Given the description of an element on the screen output the (x, y) to click on. 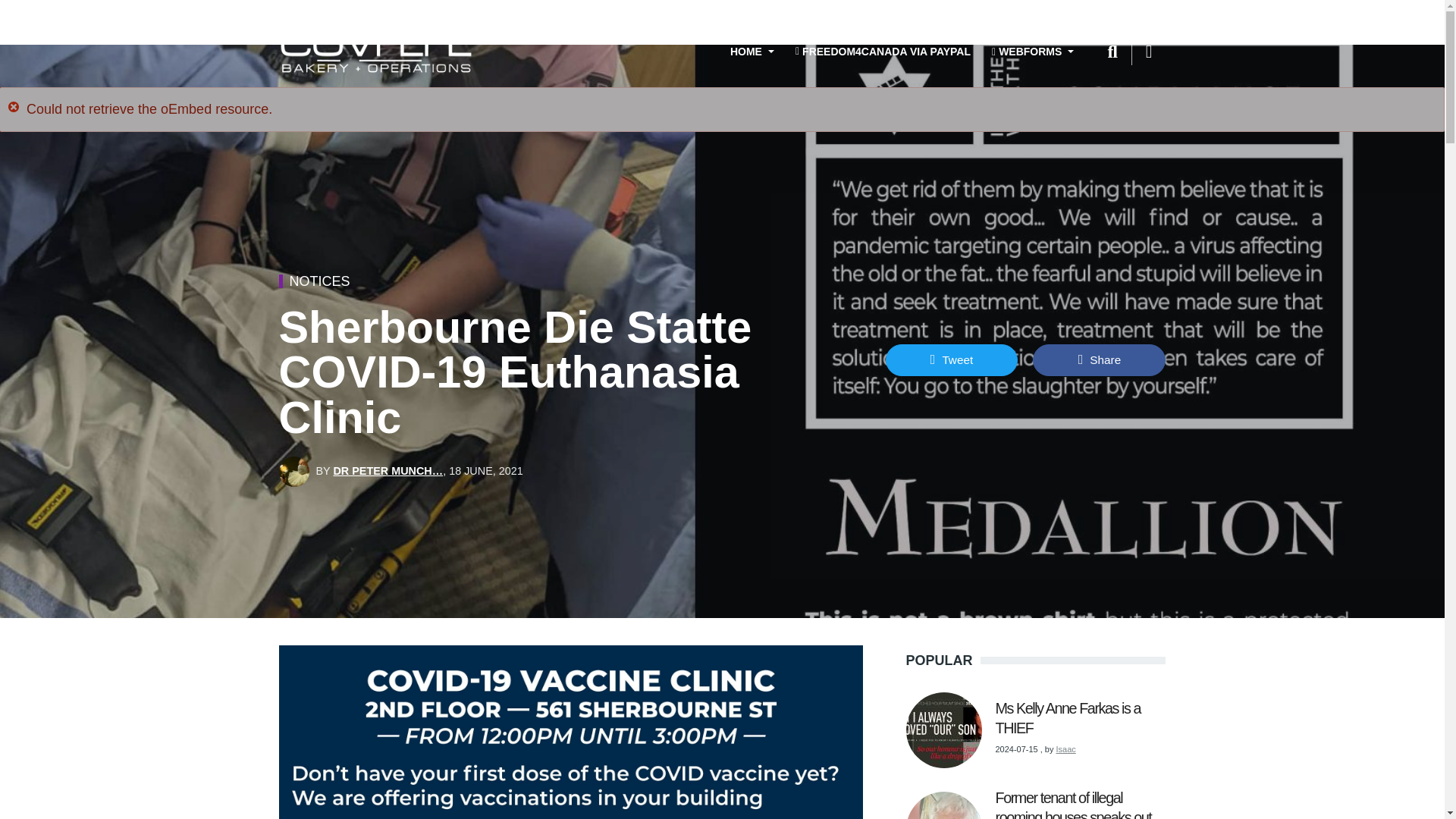
HOME (750, 51)
FREEDOM4CANADA VIA PAYPAL (882, 51)
WEBFORMS (1032, 51)
Share on Twitter (951, 359)
Donate to the Independent Ontario Advocacy Group via PayPal (882, 51)
Home (376, 51)
Voting in Auschwitz (139, 732)
View user profile. (387, 470)
Share on Facebook (1099, 359)
